Given the description of an element on the screen output the (x, y) to click on. 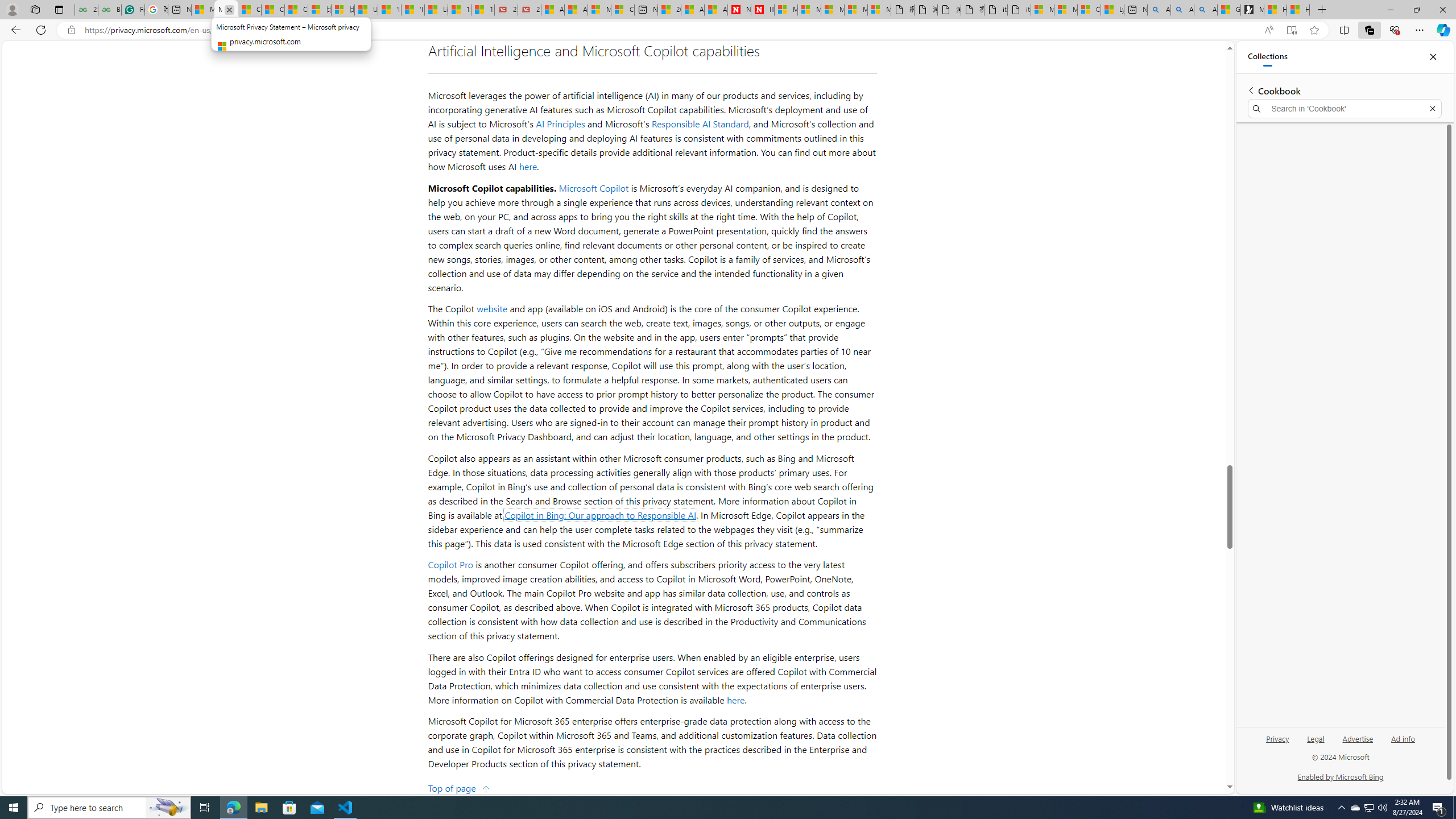
itconcepthk.com/projector_solutions.mp4 (1019, 9)
Copilot in Bing: Our approach to Responsible AI (600, 514)
20 Ways to Boost Your Protein Intake at Every Meal (668, 9)
Alabama high school quarterback dies - Search (1158, 9)
Copilot Pro (450, 564)
